Given the description of an element on the screen output the (x, y) to click on. 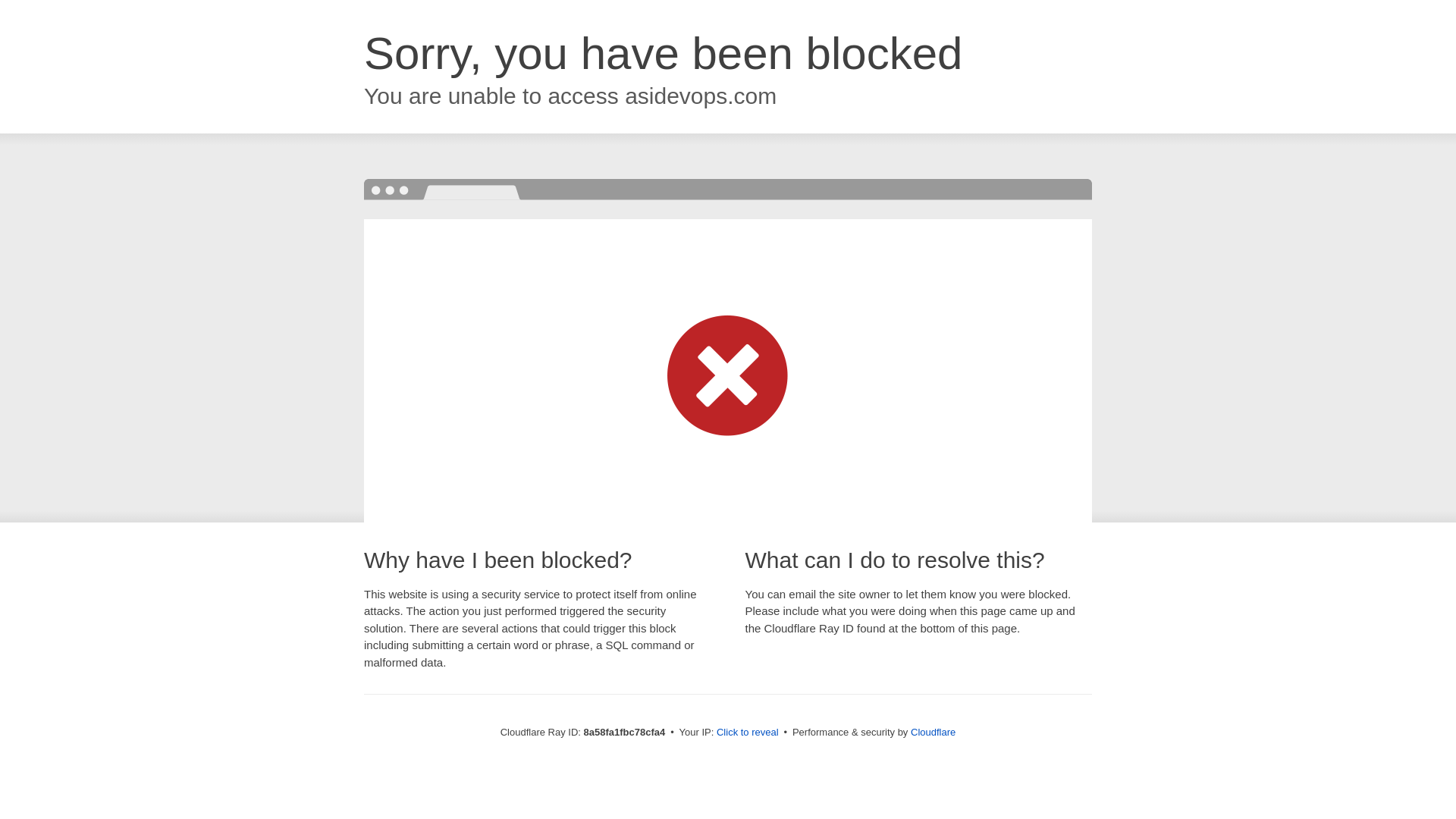
Click to reveal (747, 732)
Cloudflare (933, 731)
